Given the description of an element on the screen output the (x, y) to click on. 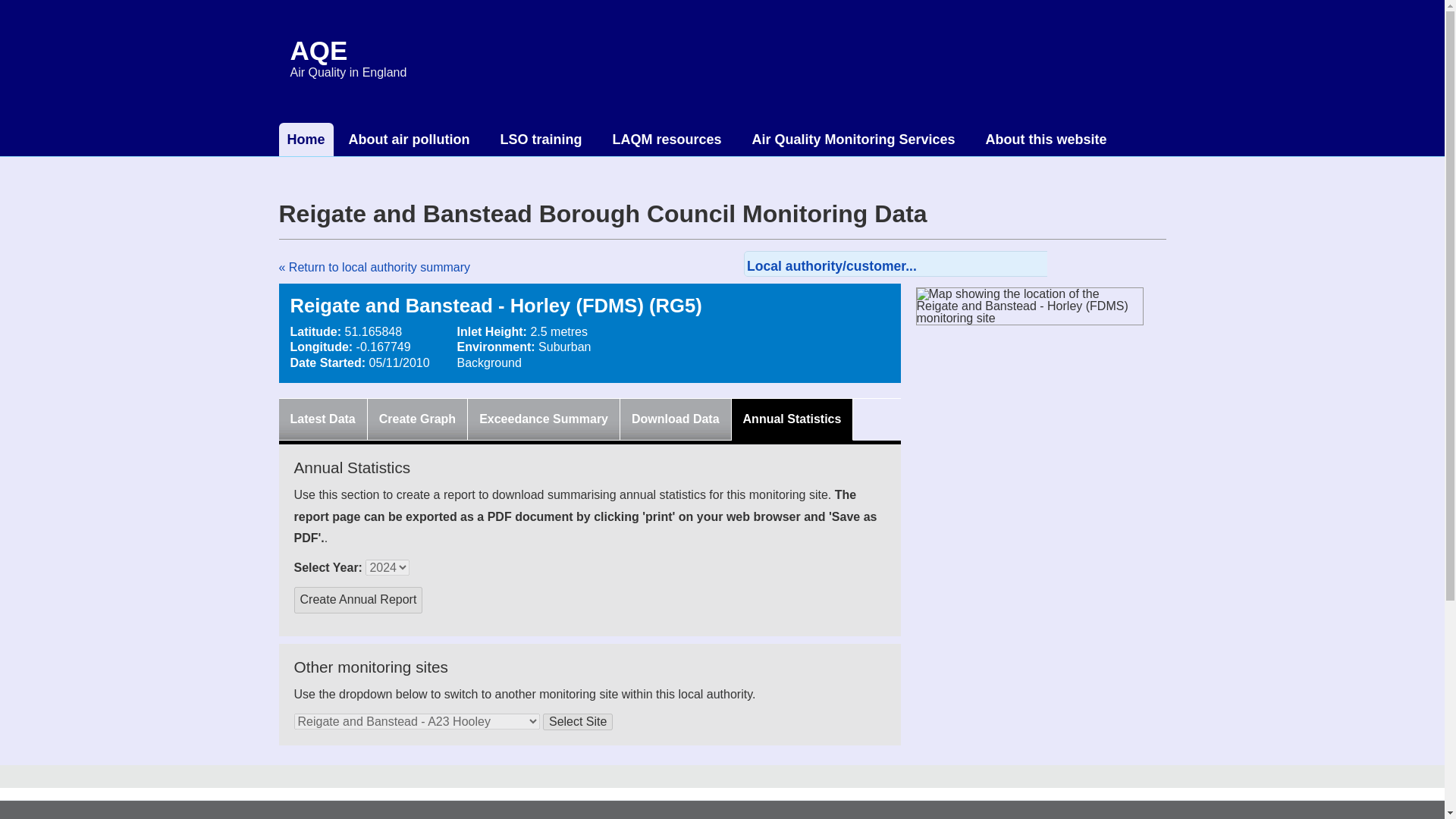
Exceedance Summary (543, 418)
Create Graph (416, 418)
LAQM resources (666, 139)
About this website (1046, 139)
Download Data (675, 418)
LSO training (540, 139)
Select Site (577, 721)
Create Annual Report (358, 600)
Annual Statistics (791, 418)
Air Quality Monitoring Services (853, 139)
Create Annual Report (358, 600)
Latest Data (322, 418)
About air pollution (408, 139)
Select Site (577, 721)
Home (306, 139)
